Given the description of an element on the screen output the (x, y) to click on. 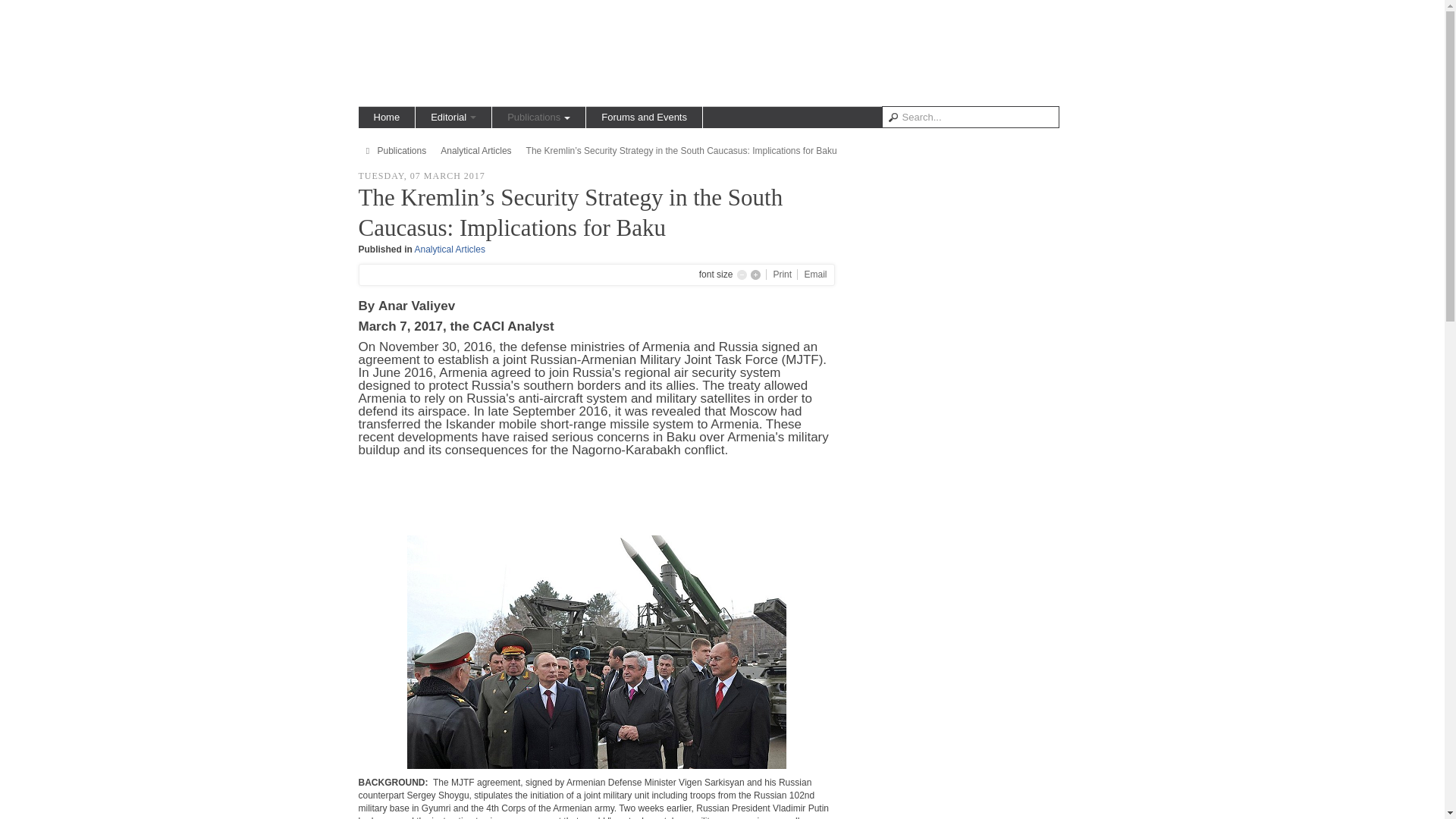
Analytical Articles (476, 150)
Email (815, 274)
Analytical Articles (449, 249)
Forums and Events (643, 117)
Home (386, 117)
Print (783, 274)
Publications (538, 117)
Editorial (453, 117)
Publications (401, 150)
